Given the description of an element on the screen output the (x, y) to click on. 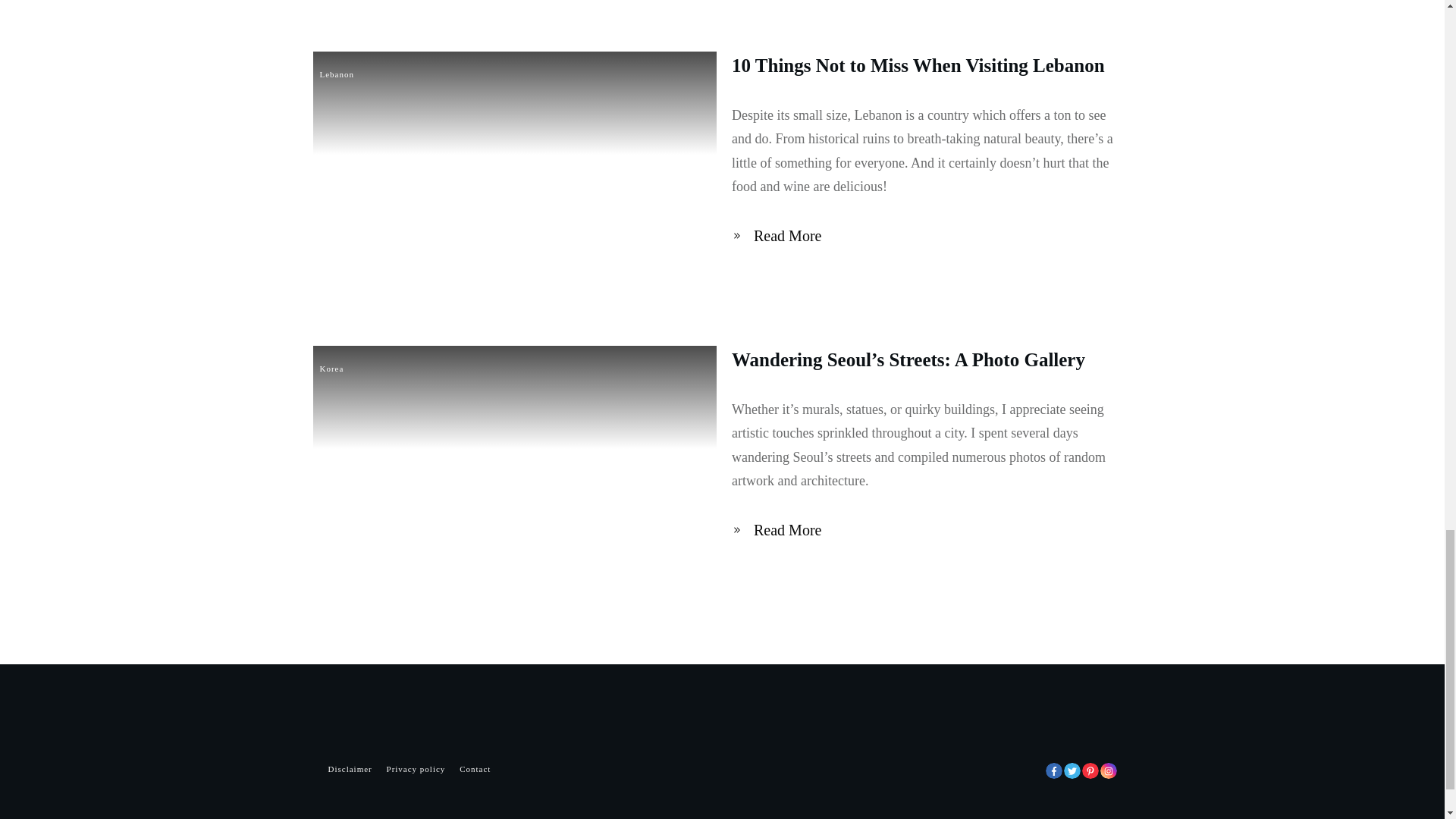
10 Things Not to Miss When Visiting Lebanon (918, 65)
Korea (331, 368)
Read More (780, 235)
Lebanon (336, 73)
Lebanon (336, 73)
10 Things Not to Miss When Visiting Lebanon (918, 65)
